Given the description of an element on the screen output the (x, y) to click on. 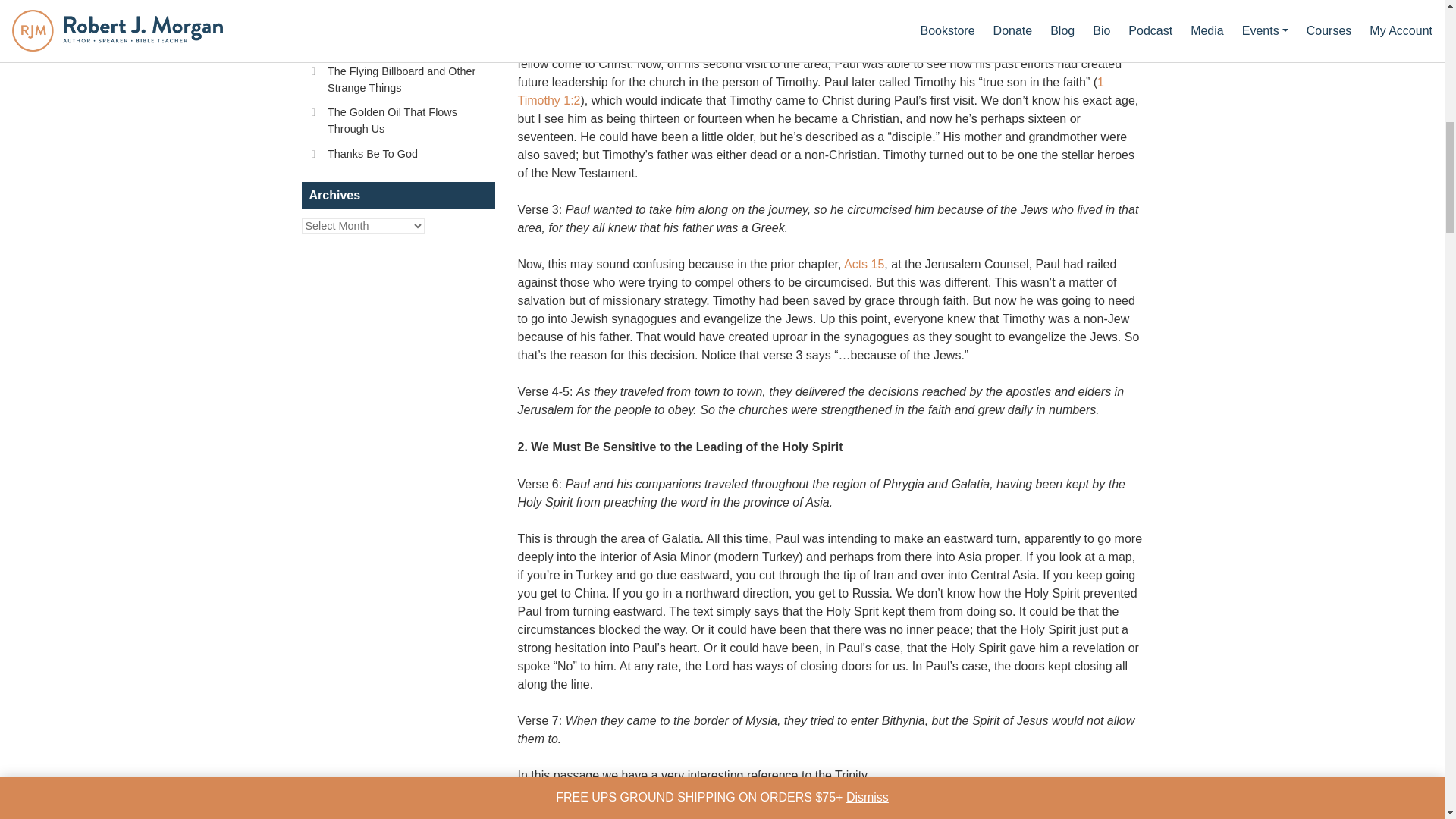
Acts 15 (863, 264)
Acts 16 (549, 27)
1 Timothy 1:2 (809, 91)
